Given the description of an element on the screen output the (x, y) to click on. 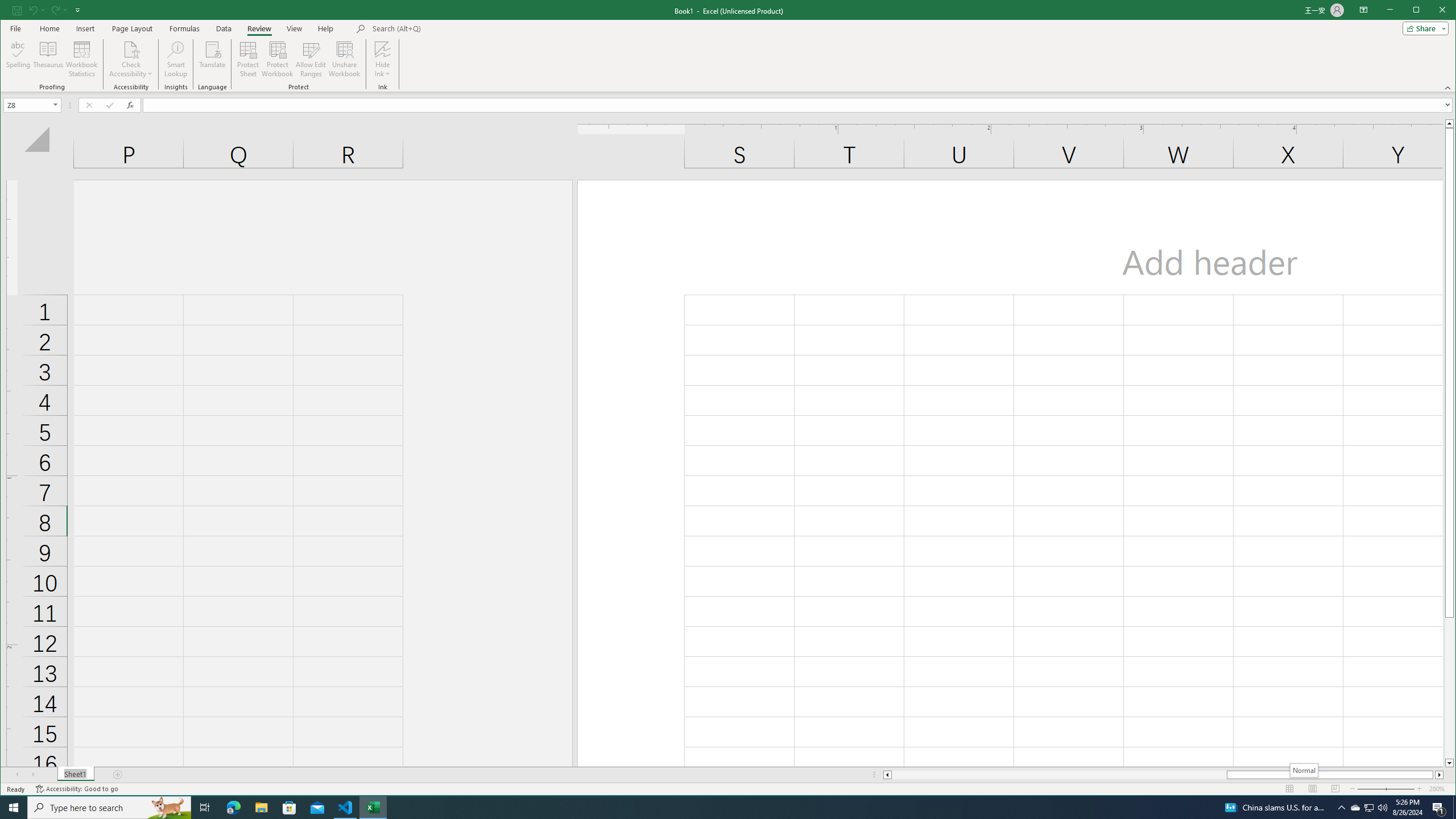
Running applications (717, 807)
Microsoft Edge (233, 807)
Task View (204, 807)
Translate (212, 59)
Type here to search (1368, 807)
Maximize (108, 807)
